Given the description of an element on the screen output the (x, y) to click on. 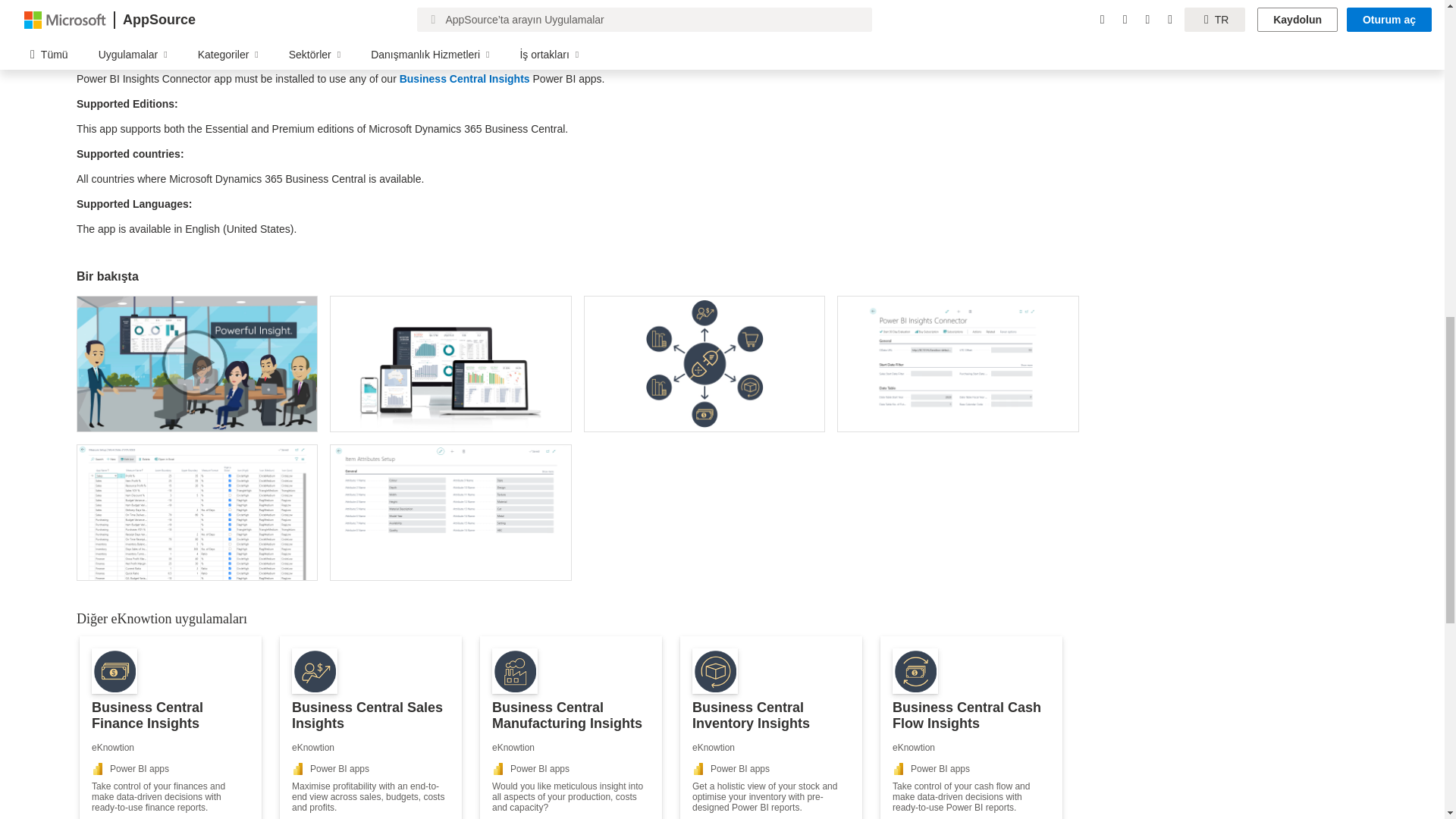
Business Central Cash Flow Insights (971, 727)
Business Central Insights (463, 78)
Business Central Sales Insights (370, 727)
Business Central Finance Insights (171, 727)
Business Central Manufacturing Insights (571, 727)
Business Central Inventory Insights (770, 727)
